Given the description of an element on the screen output the (x, y) to click on. 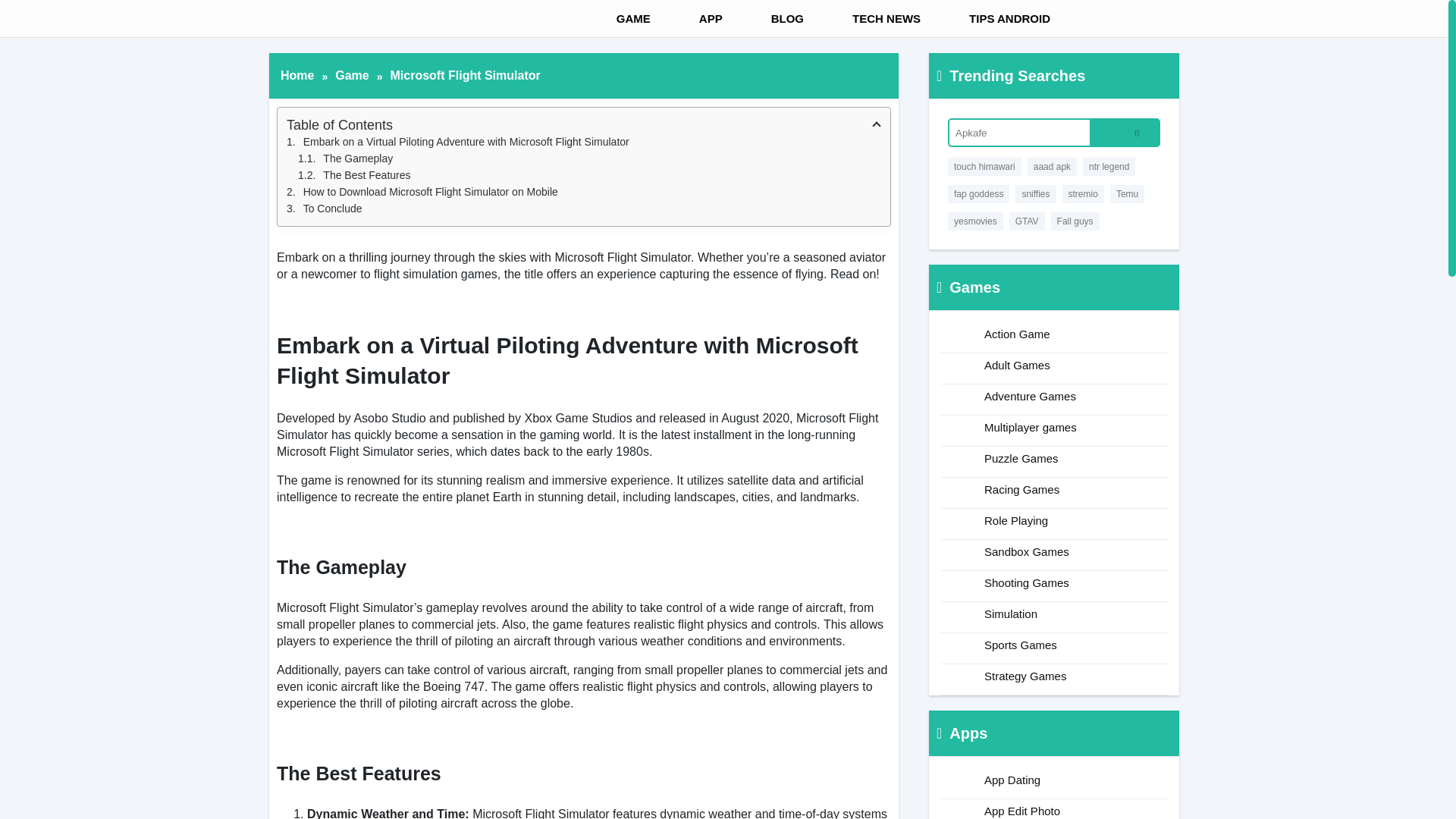
The Gameplay (589, 158)
Microsoft Flight Simulator (465, 75)
How to Download Microsoft Flight Simulator on Mobile (583, 191)
The Best Features (589, 175)
TECH NEWS (871, 18)
Game (351, 75)
APP (695, 18)
TIPS ANDROID (994, 18)
Home (297, 75)
